Given the description of an element on the screen output the (x, y) to click on. 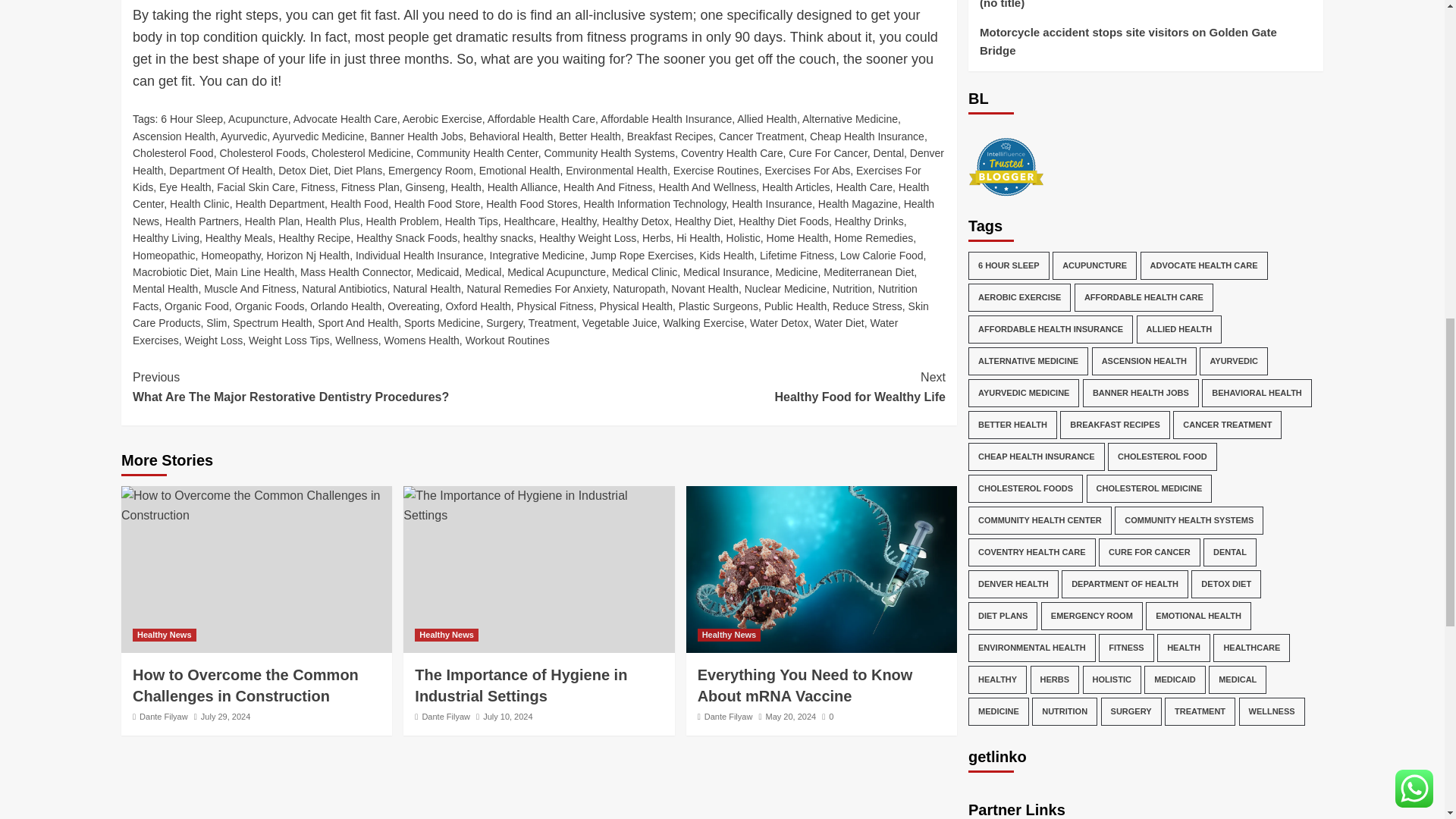
Cheap Health Insurance (866, 136)
The Importance of Hygiene in Industrial Settings (538, 505)
Advocate Health Care (345, 119)
Alternative Medicine (850, 119)
Better Health (590, 136)
Banner Health Jobs (416, 136)
Ascension Health (173, 136)
How to Overcome the Common Challenges in Construction (255, 505)
Ayurvedic Medicine (318, 136)
6 Hour Sleep (191, 119)
